Given the description of an element on the screen output the (x, y) to click on. 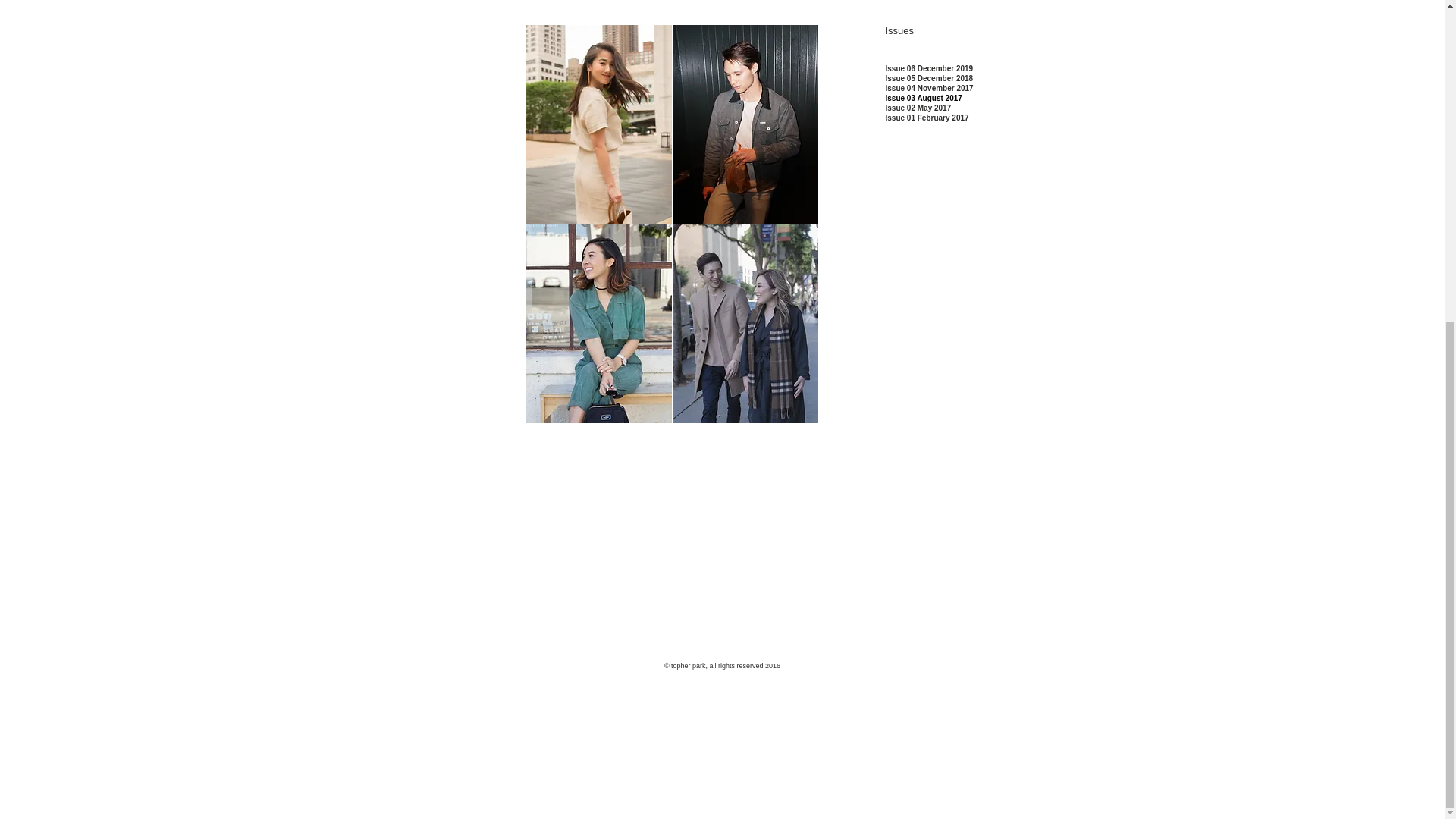
Issue 04 November 2017 (929, 88)
Issue 03 August 2017 (923, 98)
Issues (899, 30)
Issue 01 February 2017 (927, 117)
Issue 05 December 2018 (929, 78)
Issue 02 May 2017 (918, 108)
Issue 06 December 2019 (929, 68)
